Given the description of an element on the screen output the (x, y) to click on. 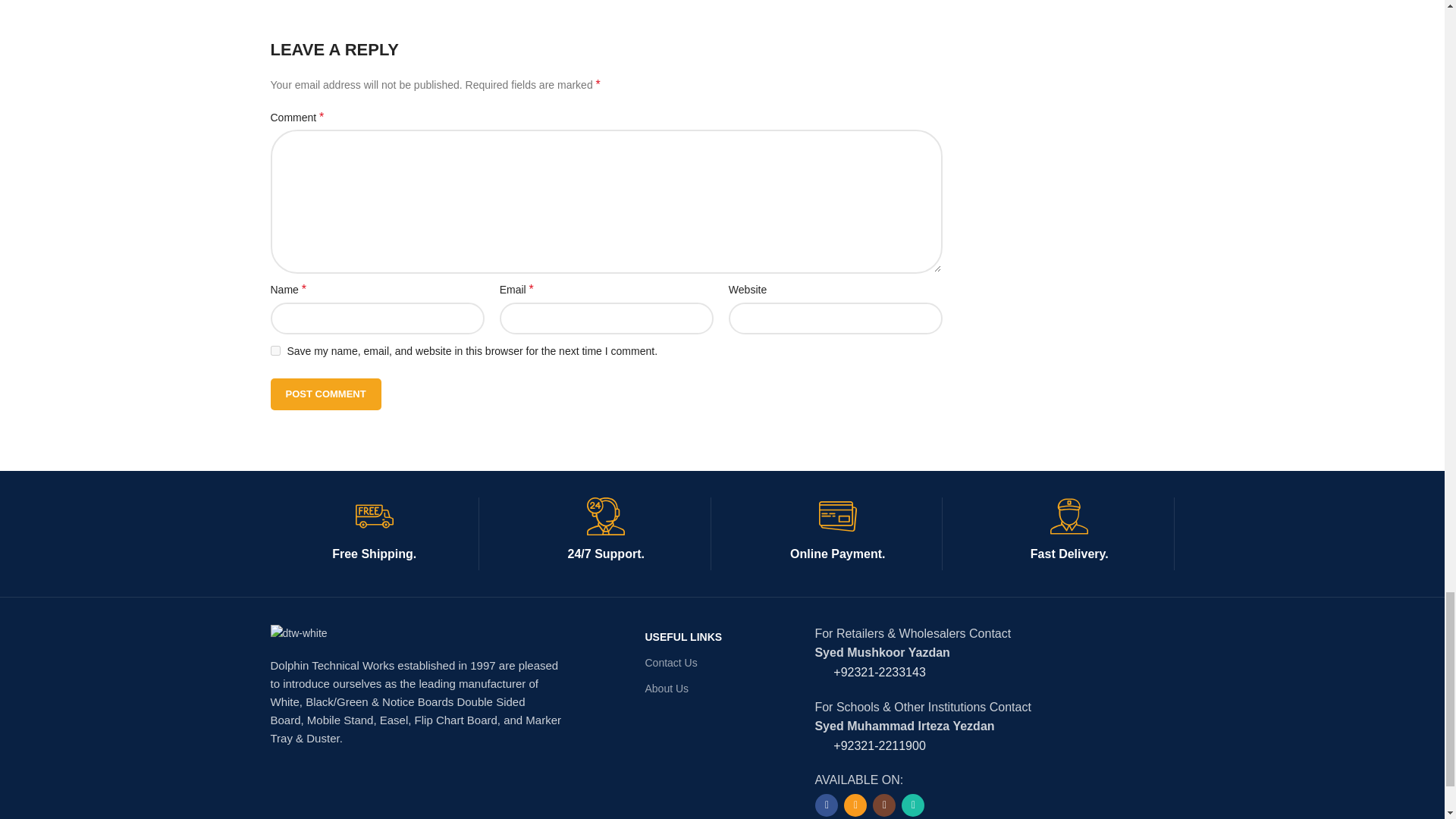
Post Comment (324, 394)
yes (274, 350)
dtw-white (297, 632)
